Given the description of an element on the screen output the (x, y) to click on. 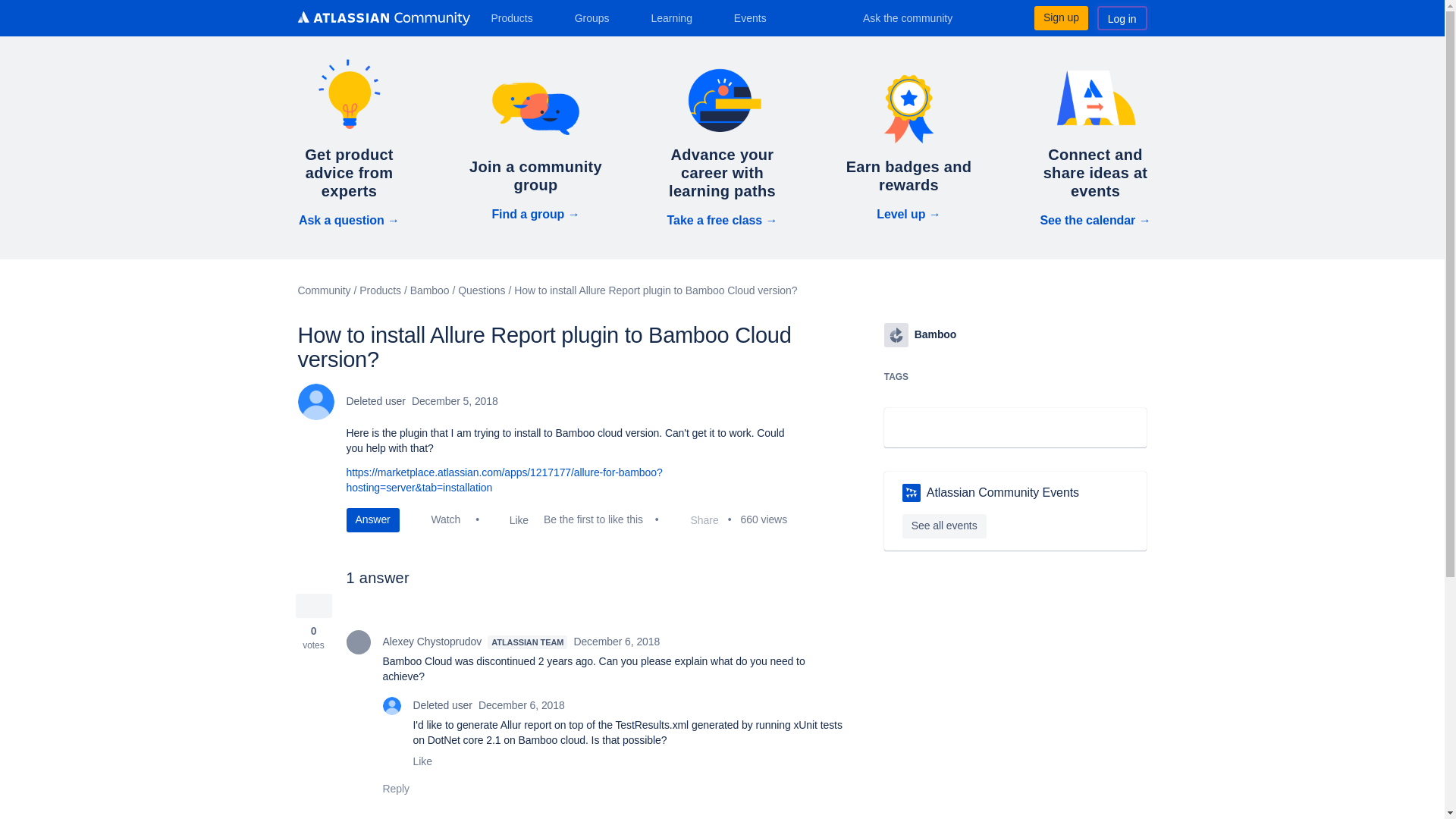
Events (756, 17)
Sign up (1060, 17)
AUG Leaders (911, 493)
Alexey Chystoprudov (357, 641)
Groups (598, 17)
Atlassian Community logo (382, 19)
Bamboo (895, 334)
Atlassian Community logo (382, 18)
Products (517, 17)
Learning (676, 17)
